Given the description of an element on the screen output the (x, y) to click on. 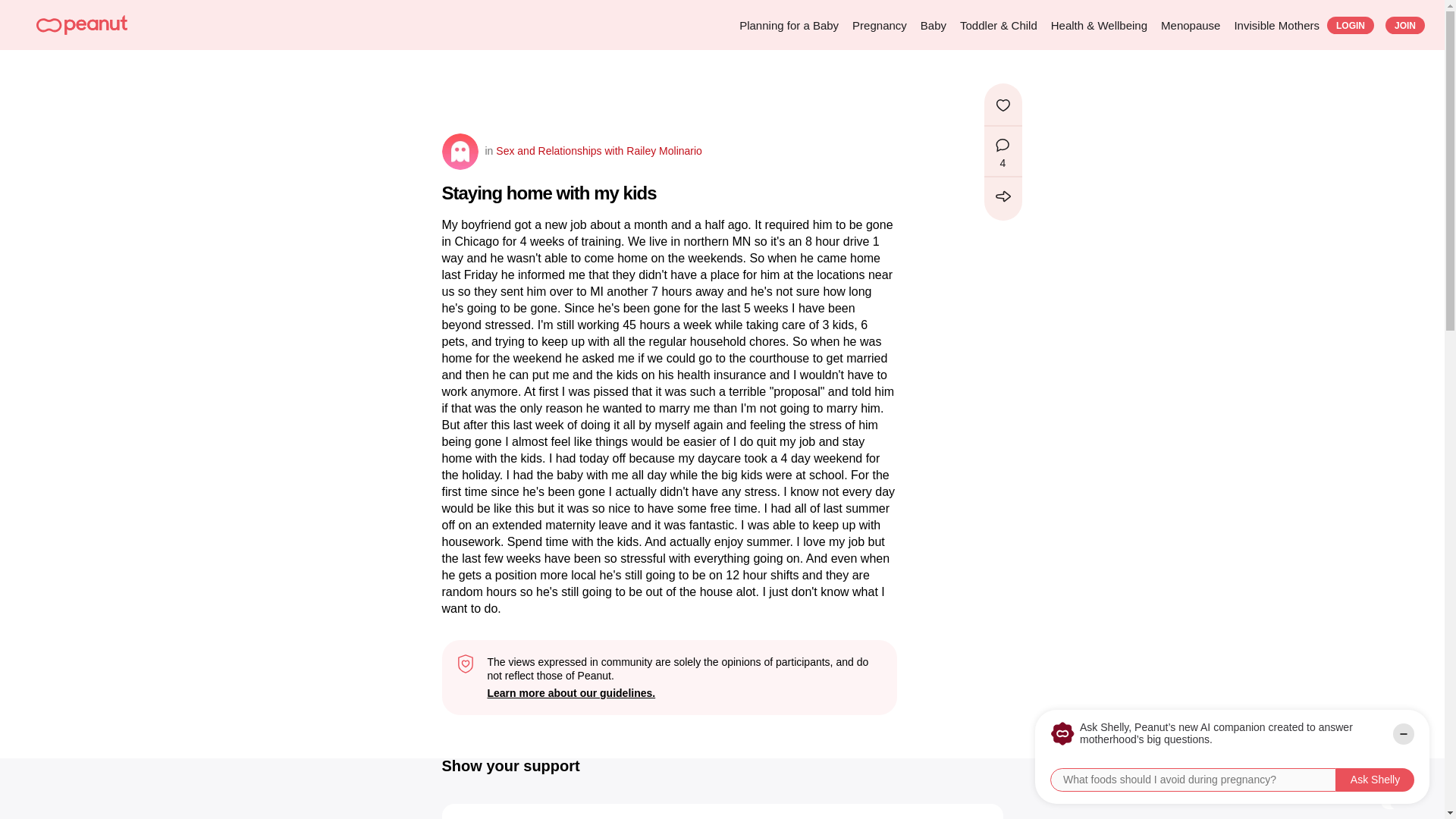
Baby (933, 25)
4 (1003, 151)
Menopause (1190, 25)
Learn more about our guidelines. (683, 693)
Sex and Relationships with Railey Molinario (597, 150)
LOGIN (1350, 25)
Planning for a Baby (788, 25)
Pregnancy (879, 25)
Invisible Mothers (1276, 25)
JOIN (1405, 25)
